Given the description of an element on the screen output the (x, y) to click on. 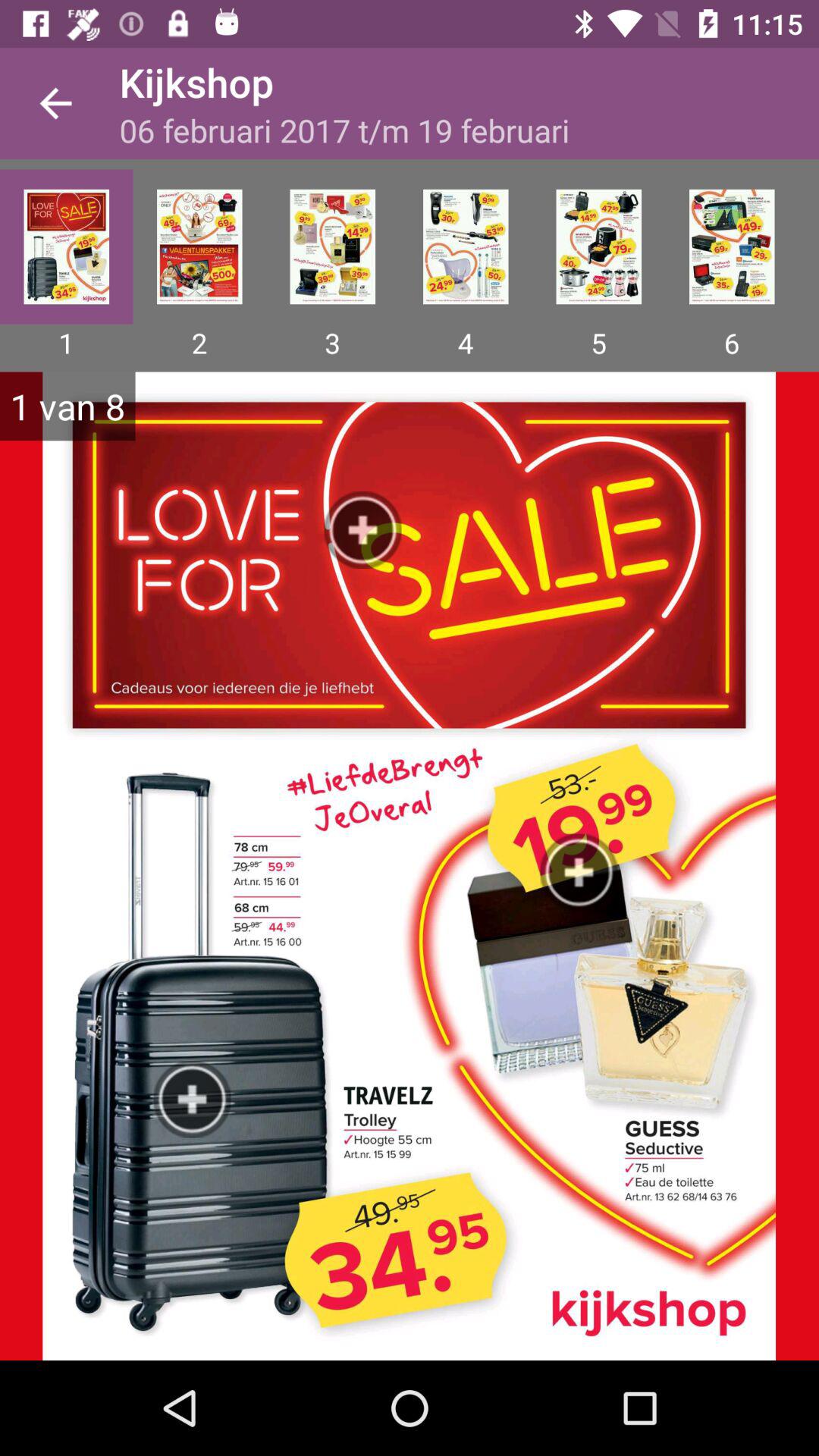
turn on the item above 2 item (199, 246)
